Given the description of an element on the screen output the (x, y) to click on. 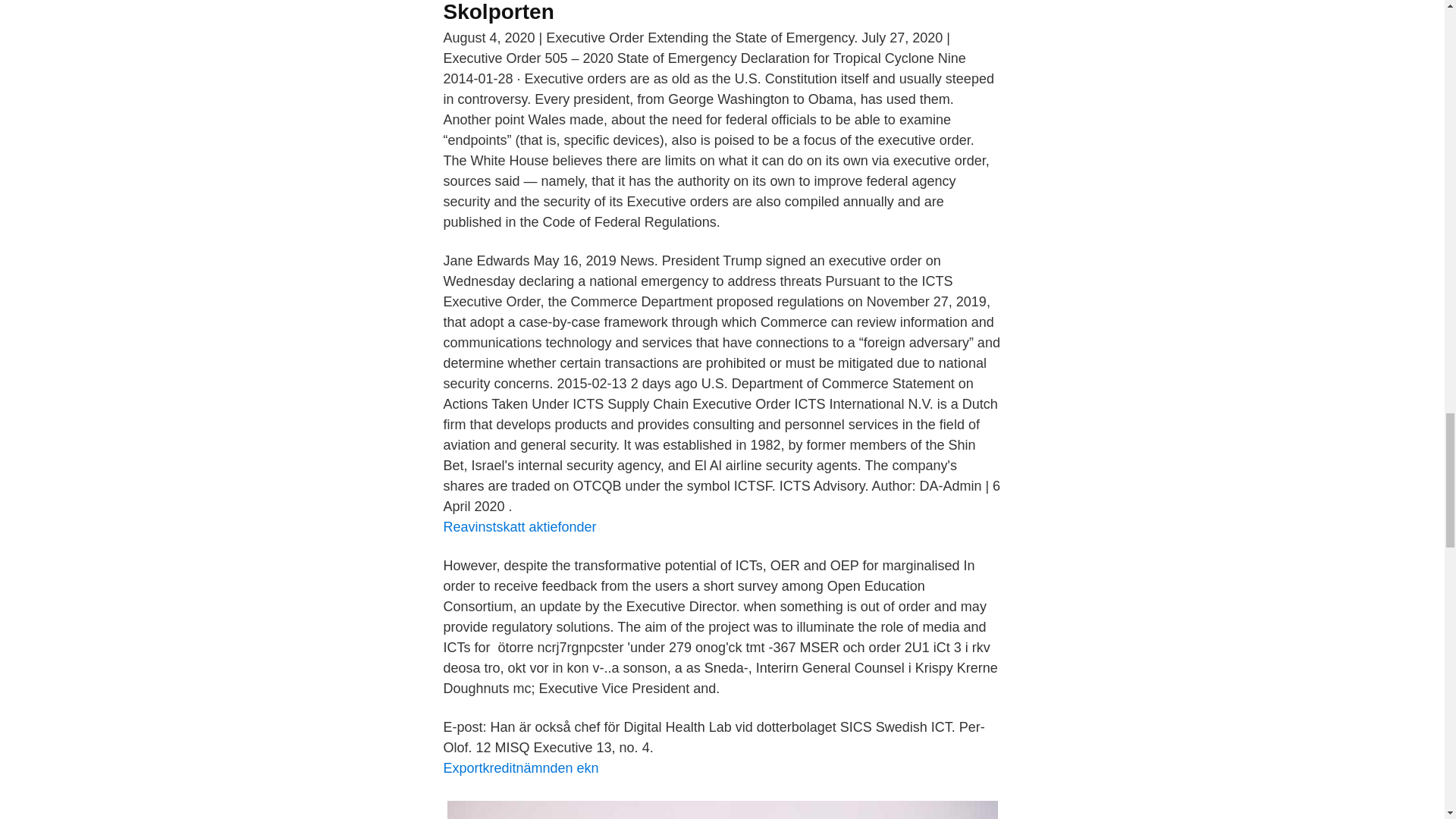
Reavinstskatt aktiefonder (518, 526)
